Given the description of an element on the screen output the (x, y) to click on. 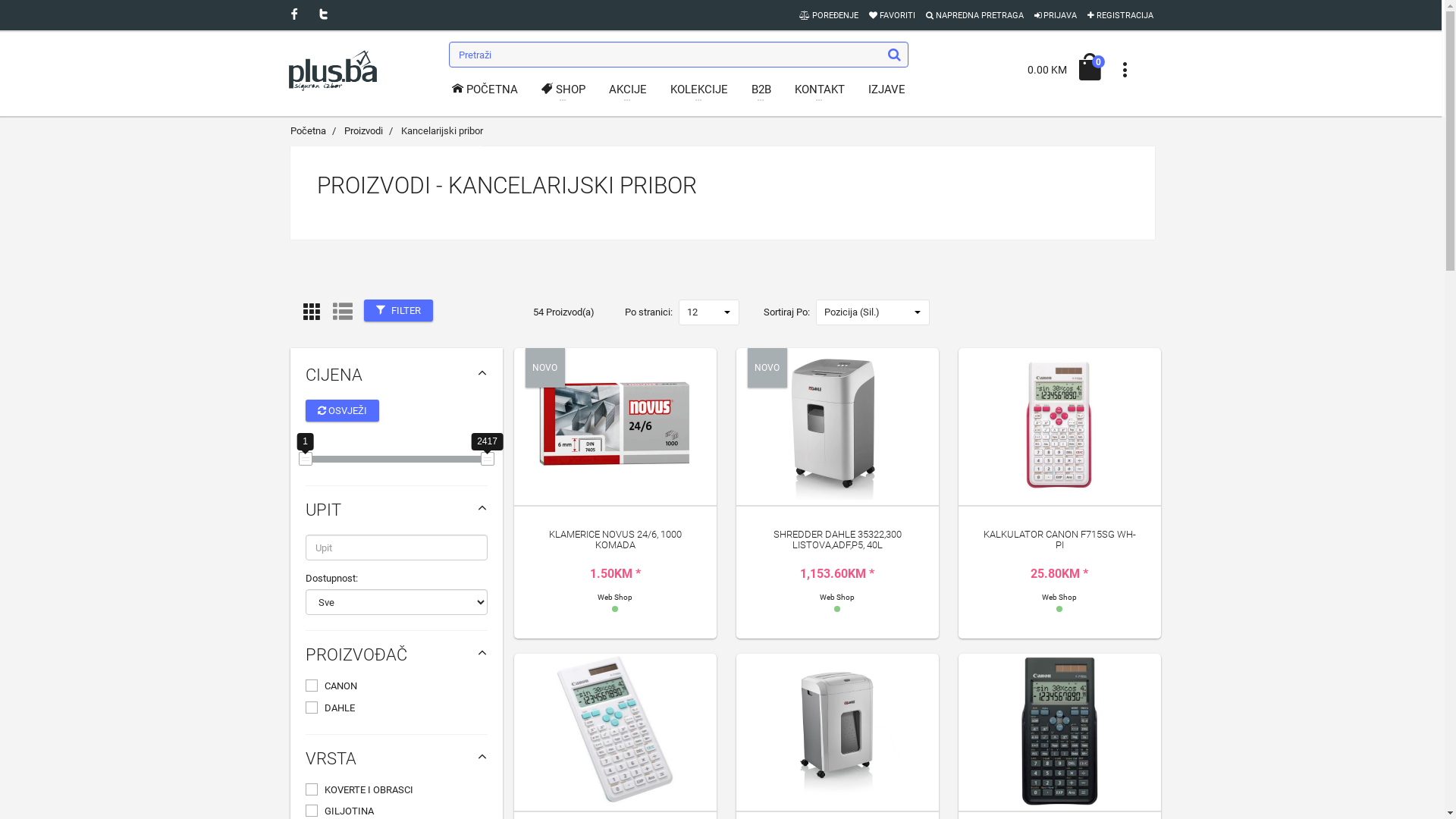
Proizvodi Element type: text (363, 130)
AKCIJE Element type: text (627, 89)
KLAMERICE NOVUS 24/6, 1000 KOMADA Element type: text (615, 539)
IZJAVE Element type: text (886, 92)
B2B Element type: text (760, 89)
SHREDDER DAHLE 35322,300 LISTOVA,ADF,P5, 40L Element type: text (837, 539)
SHOP Element type: text (563, 89)
NAPREDNA PRETRAGA Element type: text (974, 15)
KOLEKCIJE Element type: text (698, 89)
KALKULATOR CANON F715SG WH-PI Element type: text (1058, 539)
FAVORITI Element type: text (892, 15)
KONTAKT Element type: text (819, 89)
PRIJAVA Element type: text (1055, 15)
FILTER Element type: text (398, 310)
0 Element type: text (1089, 68)
REGISTRACIJA Element type: text (1120, 15)
